Given the description of an element on the screen output the (x, y) to click on. 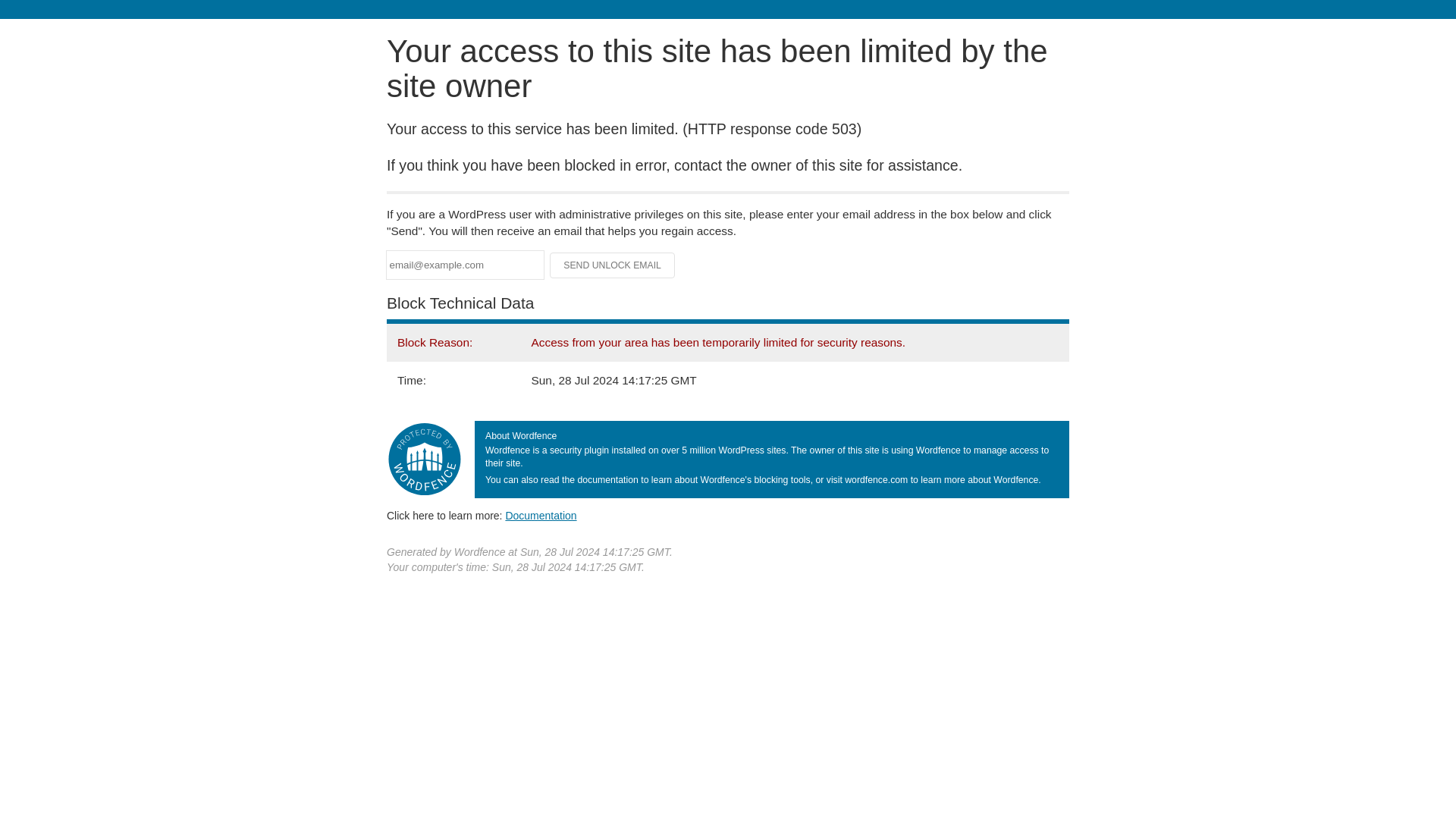
Documentation (540, 515)
Send Unlock Email (612, 265)
Send Unlock Email (612, 265)
